Given the description of an element on the screen output the (x, y) to click on. 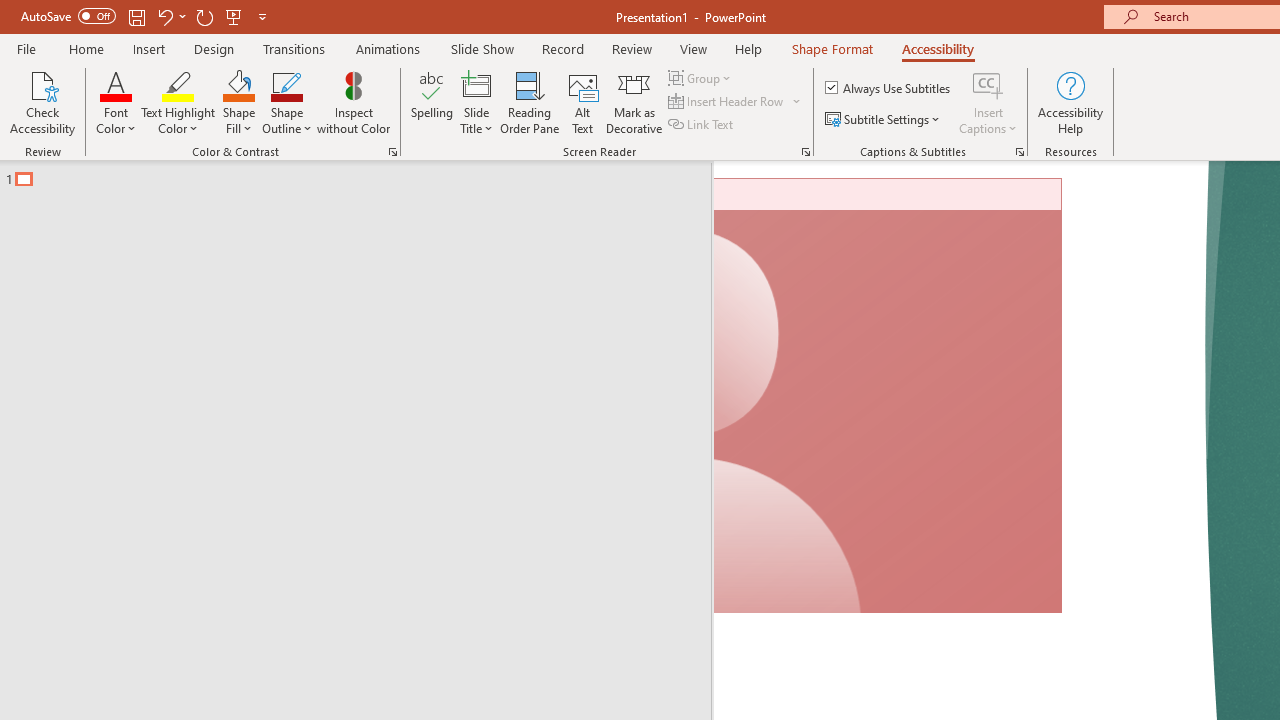
Color & Contrast (392, 151)
Reading Order Pane (529, 102)
Always Use Subtitles (889, 87)
